Given the description of an element on the screen output the (x, y) to click on. 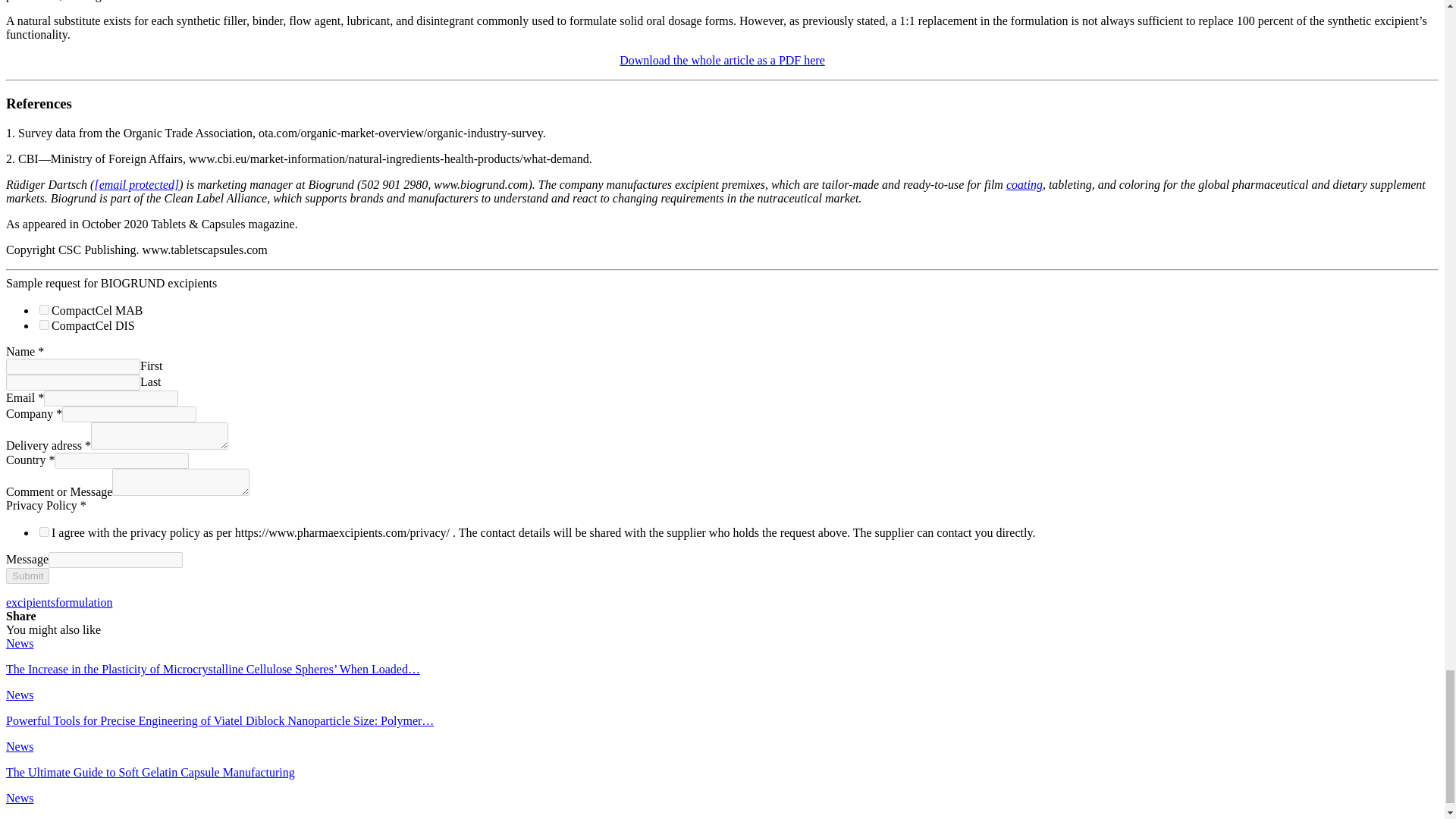
The Ultimate Guide to Soft Gelatin Capsule Manufacturing (150, 771)
CompactCel DIS (44, 325)
CompactCel MAB (44, 309)
